Given the description of an element on the screen output the (x, y) to click on. 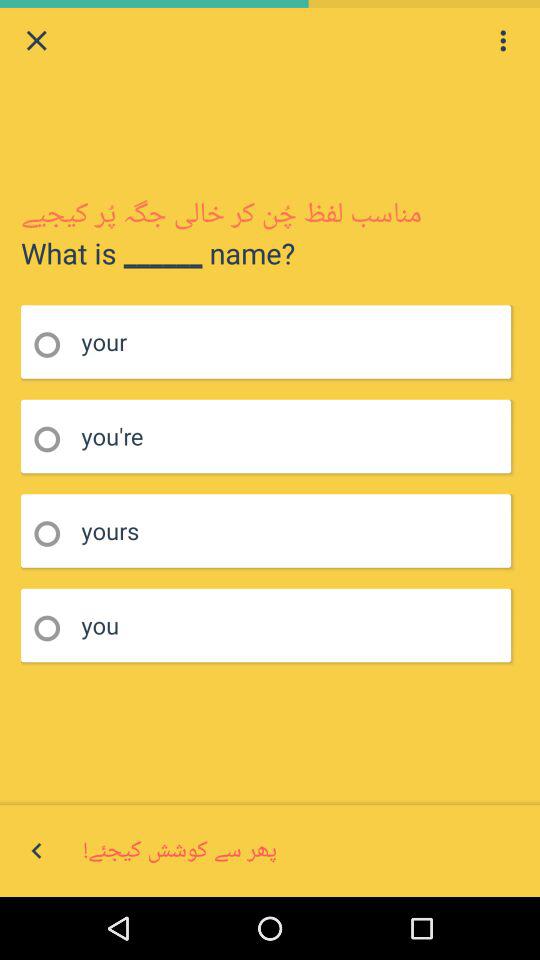
select option (53, 628)
